Given the description of an element on the screen output the (x, y) to click on. 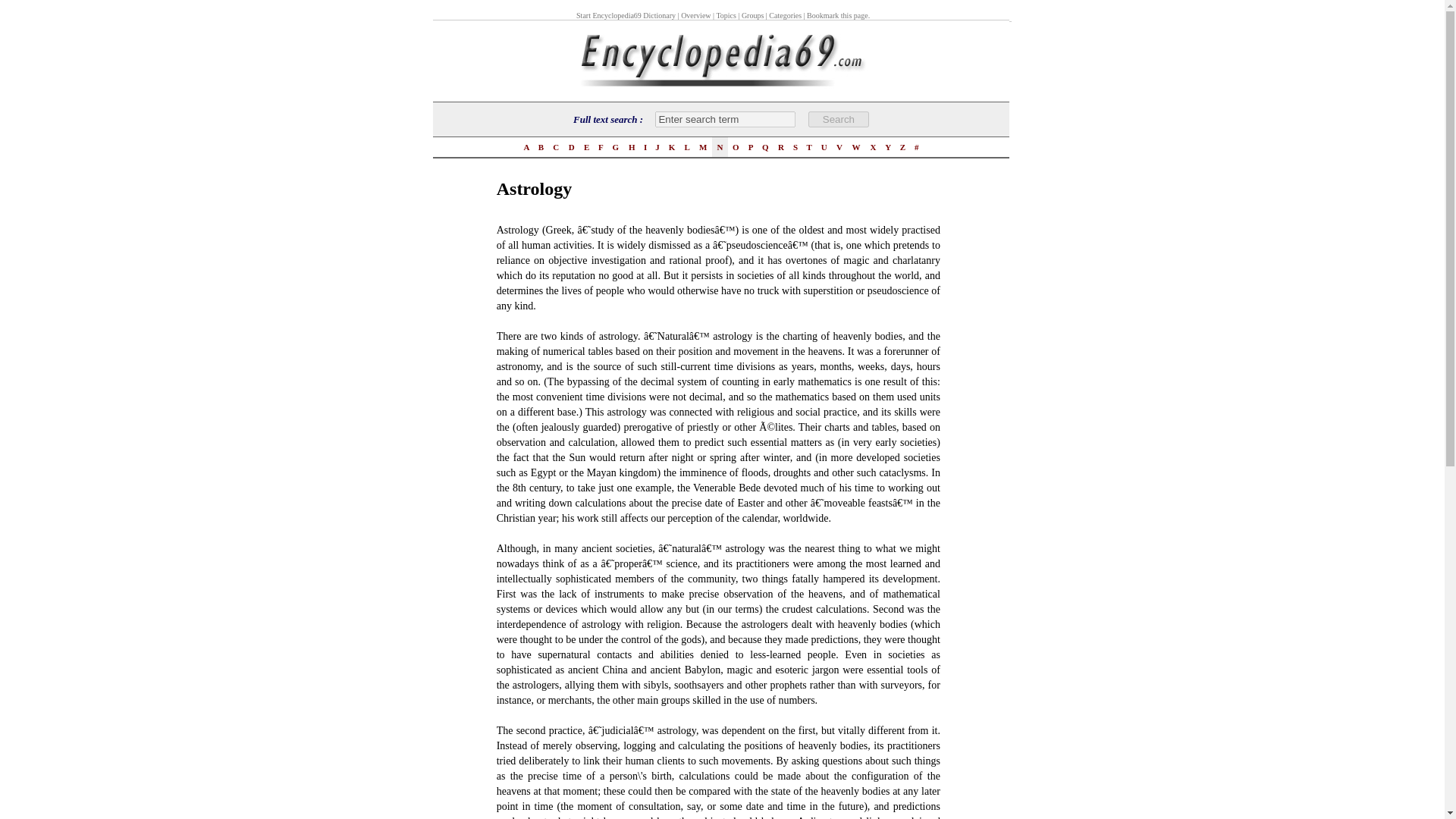
 T  (809, 146)
 C  (555, 146)
 E  (585, 146)
   Search    (838, 119)
Enter search term (724, 119)
 P  (750, 146)
   Search    (838, 119)
 H  (631, 146)
Start Encyclopedia69 Dictionary (625, 14)
 J  (656, 146)
